Given the description of an element on the screen output the (x, y) to click on. 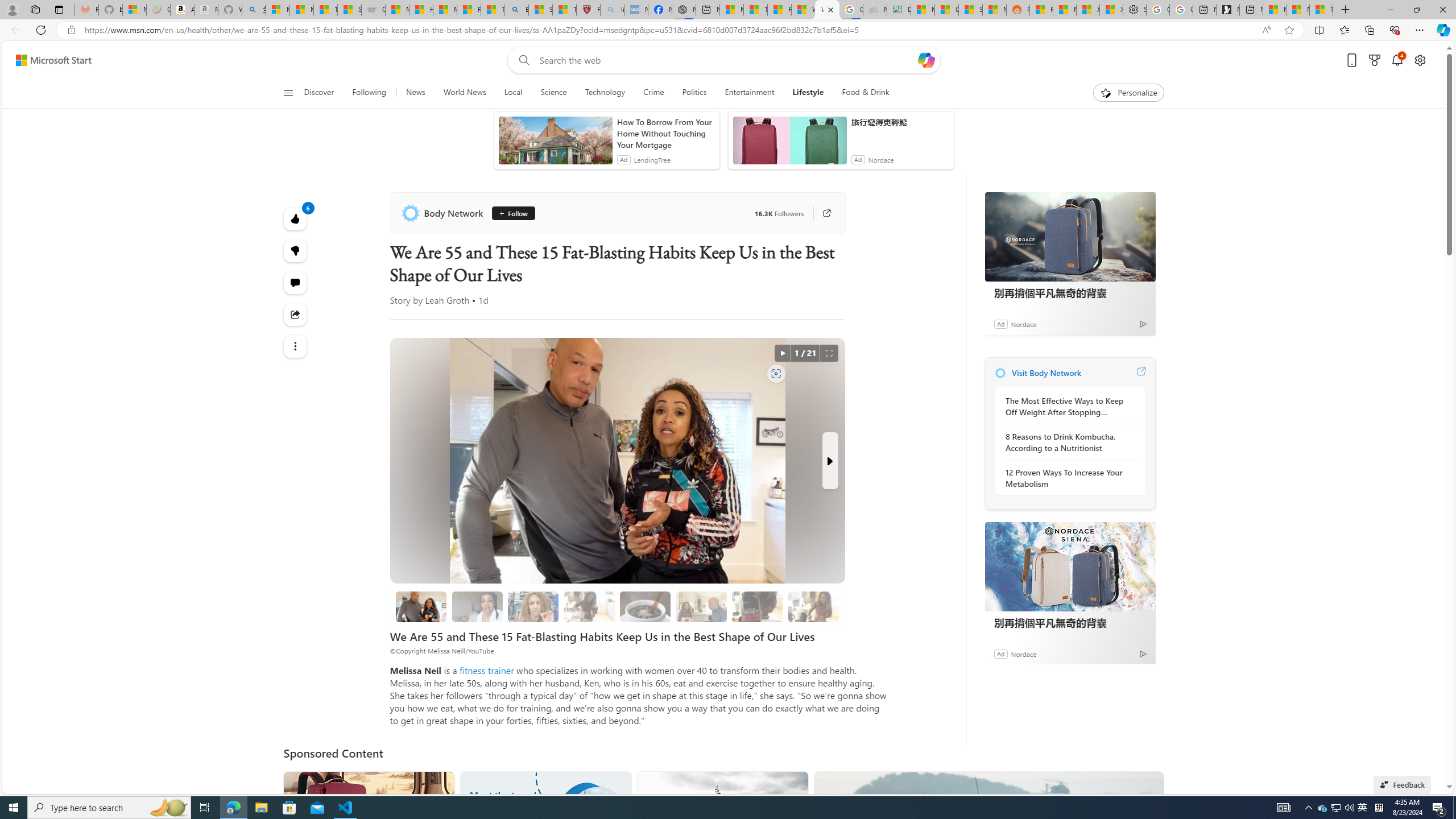
6 Since Eating More Protein Her Training Has Improved (756, 606)
7 They Don't Skip Meals (813, 606)
3 They Drink Lemon Tea (589, 606)
Go to publisher's site (820, 213)
5 She Eats Less Than Her Husband (701, 606)
